Given the description of an element on the screen output the (x, y) to click on. 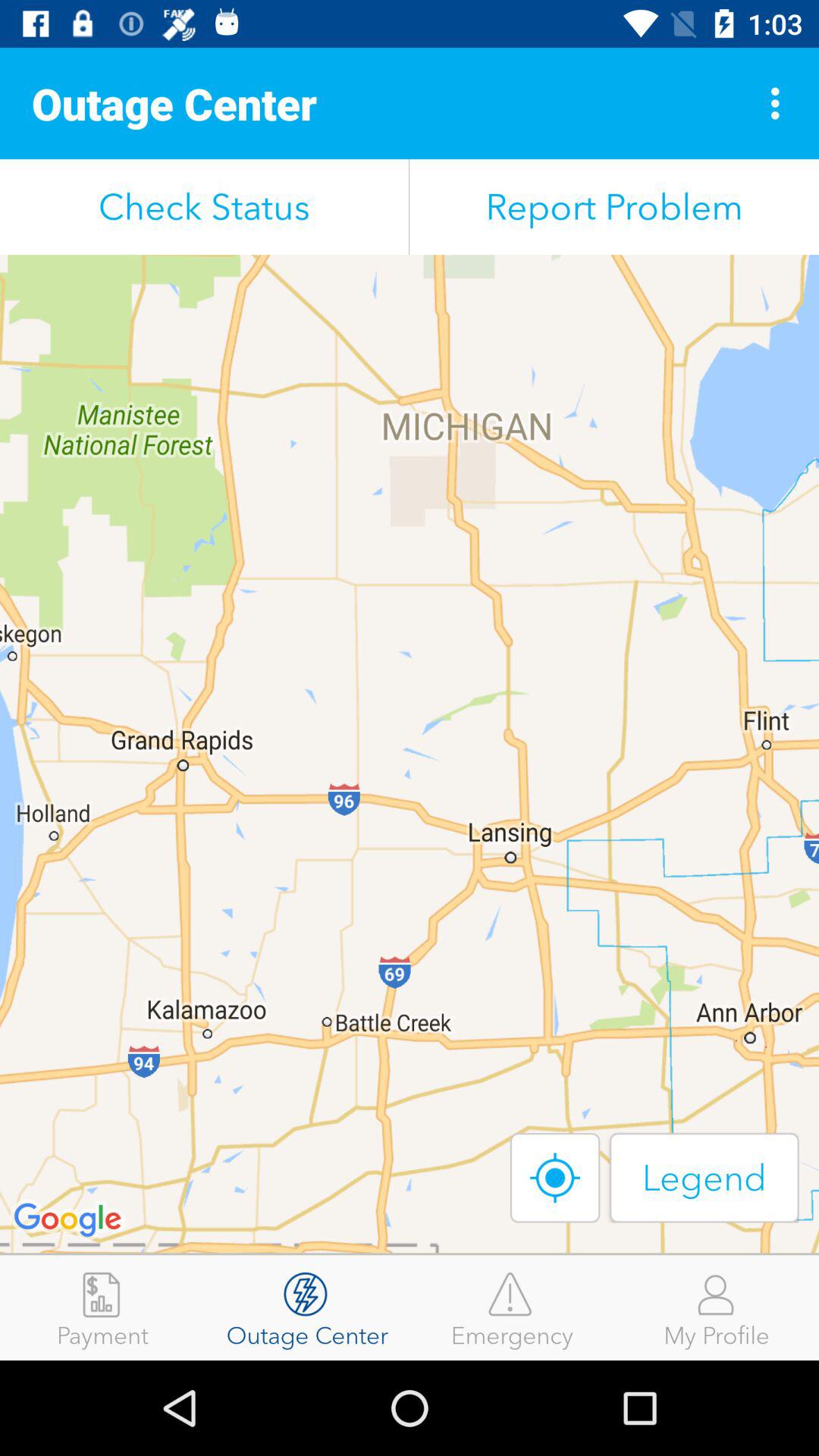
select my profile item (716, 1307)
